Given the description of an element on the screen output the (x, y) to click on. 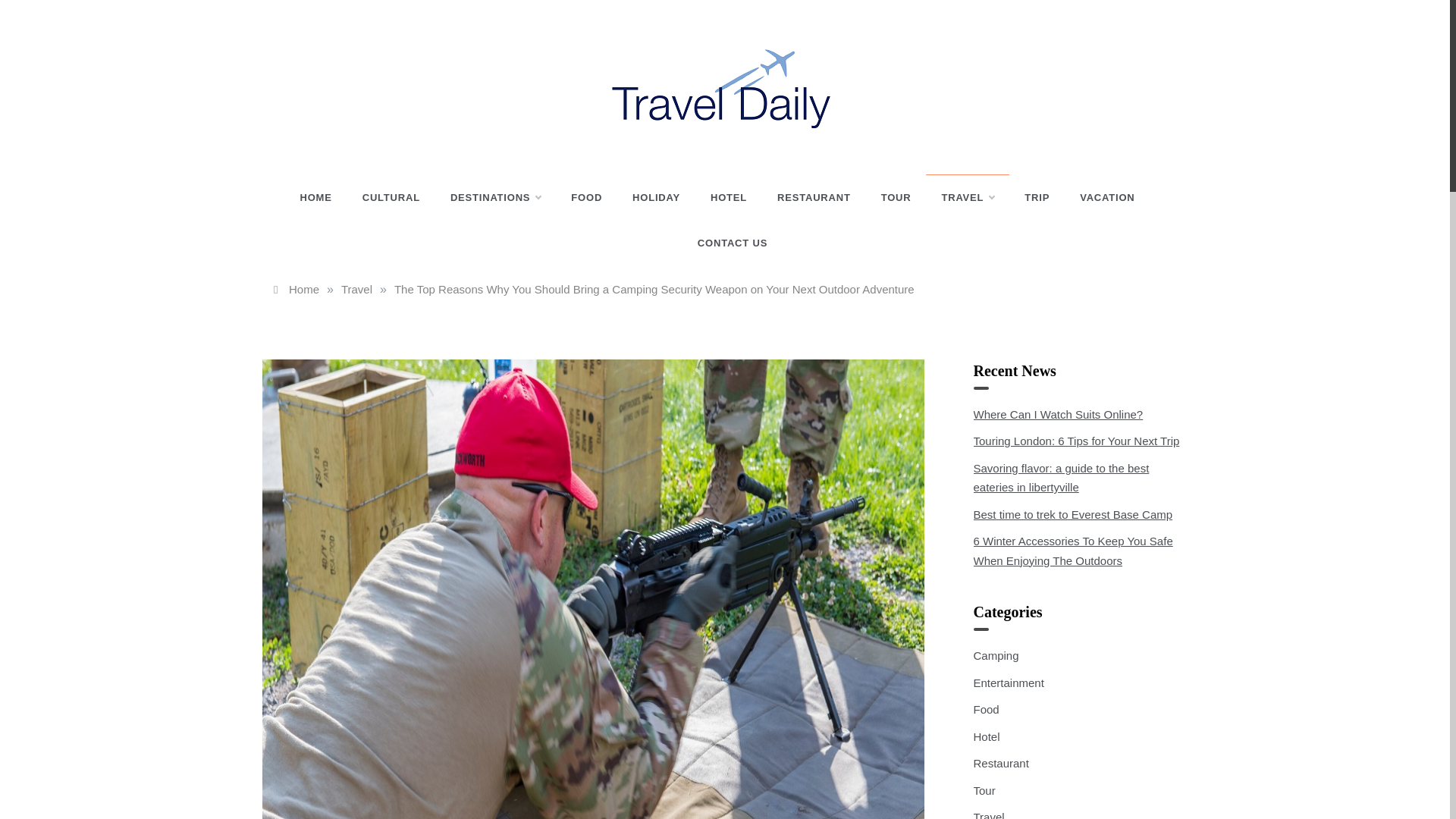
DESTINATIONS (495, 197)
TOUR (896, 197)
HOME (323, 197)
HOTEL (728, 197)
FOOD (586, 197)
HOLIDAY (656, 197)
TRAVEL (967, 197)
CULTURAL (391, 197)
RESTAURANT (813, 197)
